Given the description of an element on the screen output the (x, y) to click on. 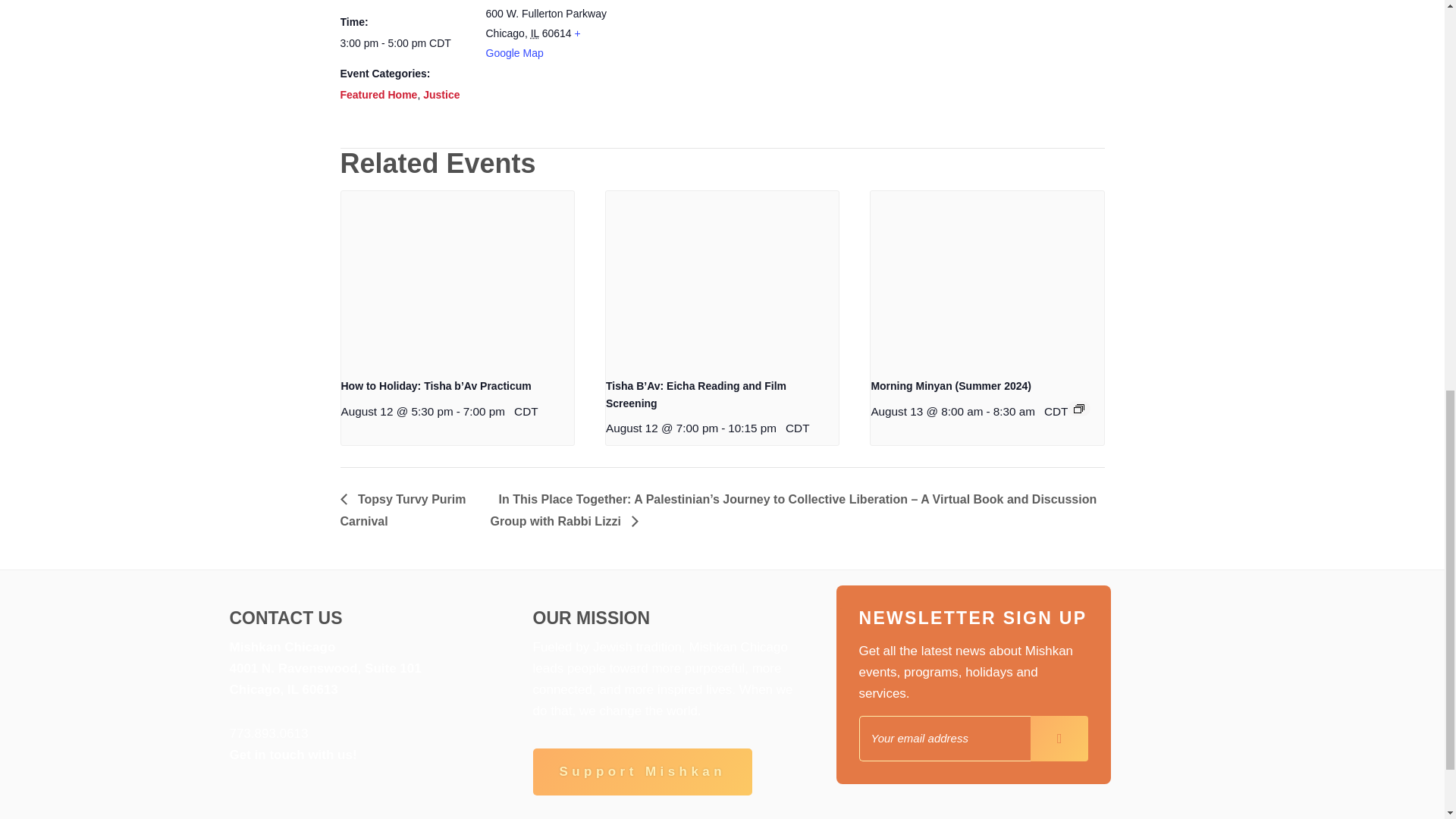
2022-03-13 (403, 43)
Click to view a Google Map (531, 42)
Event Series (1079, 408)
